Given the description of an element on the screen output the (x, y) to click on. 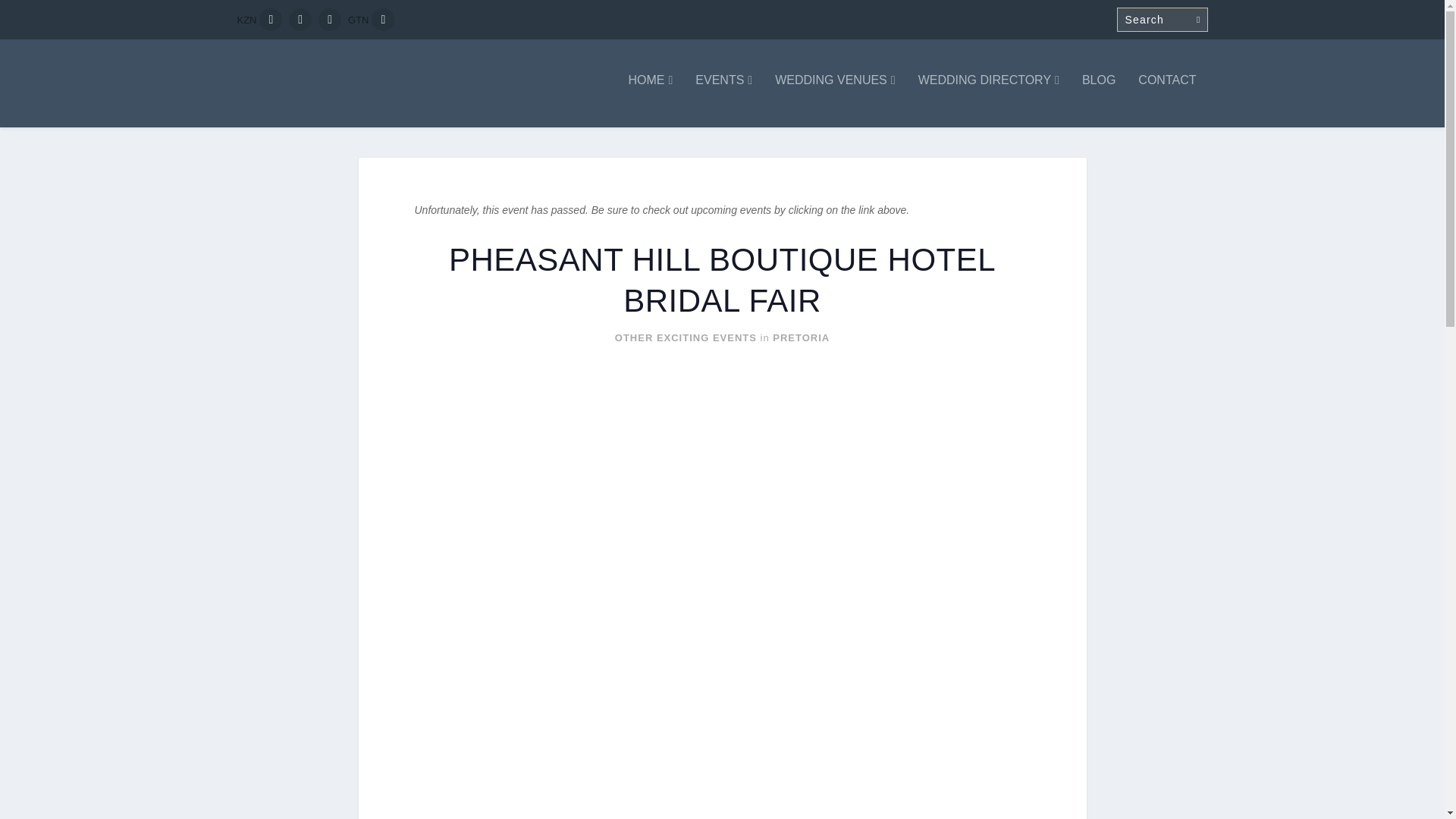
WEDDING DIRECTORY (988, 100)
PRETORIA (801, 337)
WEDDING VENUES (834, 100)
CONTACT (1166, 100)
OTHER EXCITING EVENTS (685, 337)
Search for: (1161, 19)
EVENTS (723, 100)
